Given the description of an element on the screen output the (x, y) to click on. 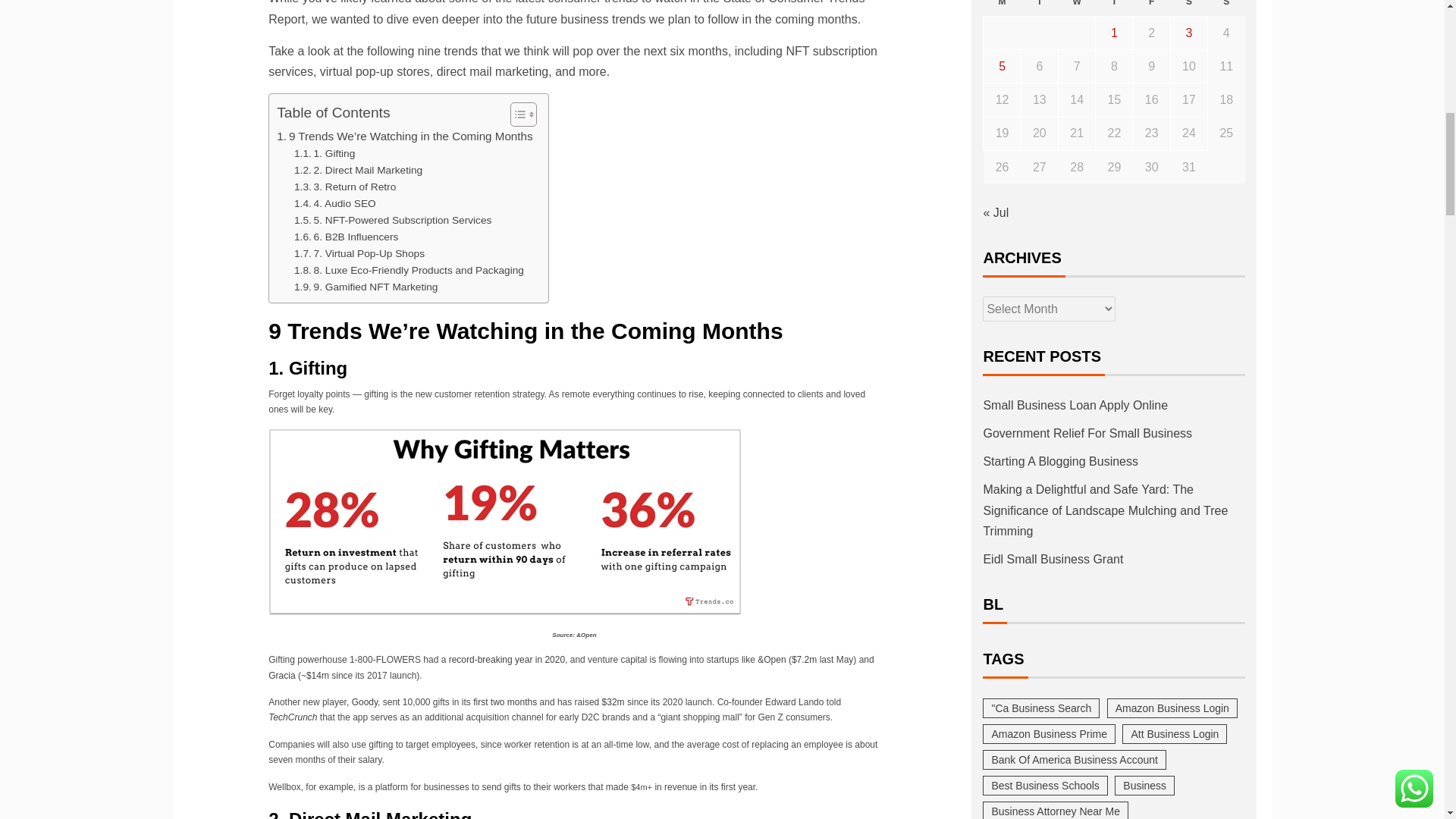
3. Return of Retro (345, 187)
1. Gifting (324, 153)
2. Direct Mail Marketing (358, 170)
9. Gamified NFT Marketing (366, 287)
7. Virtual Pop-Up Shops (359, 253)
6. B2B Influencers (345, 237)
2. Direct Mail Marketing (358, 170)
1. Gifting (324, 153)
8. Luxe Eco-Friendly Products and Packaging (409, 270)
4. Audio SEO (334, 203)
